Given the description of an element on the screen output the (x, y) to click on. 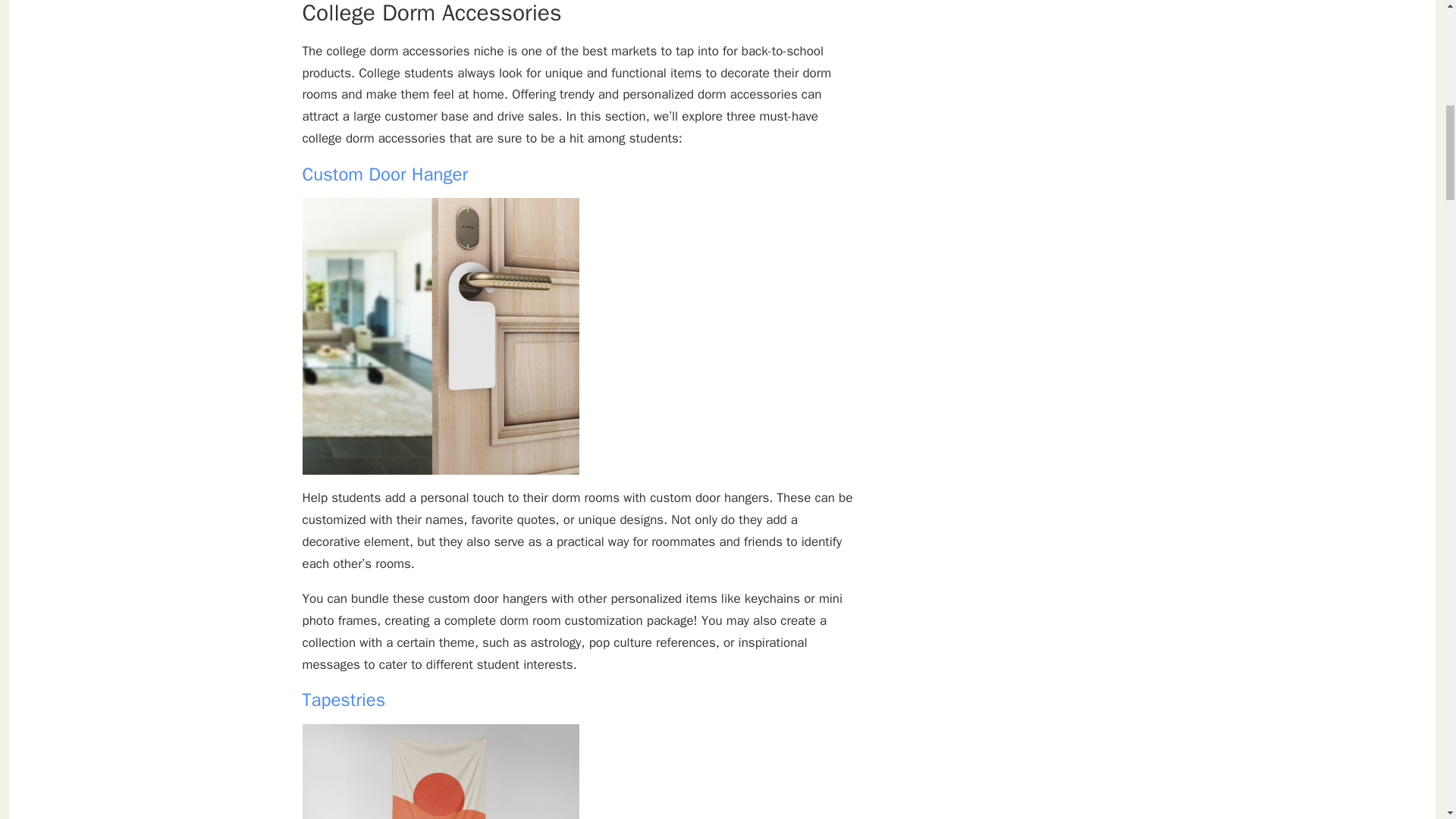
Custom Door Hanger (384, 173)
Tapestries (343, 699)
